Given the description of an element on the screen output the (x, y) to click on. 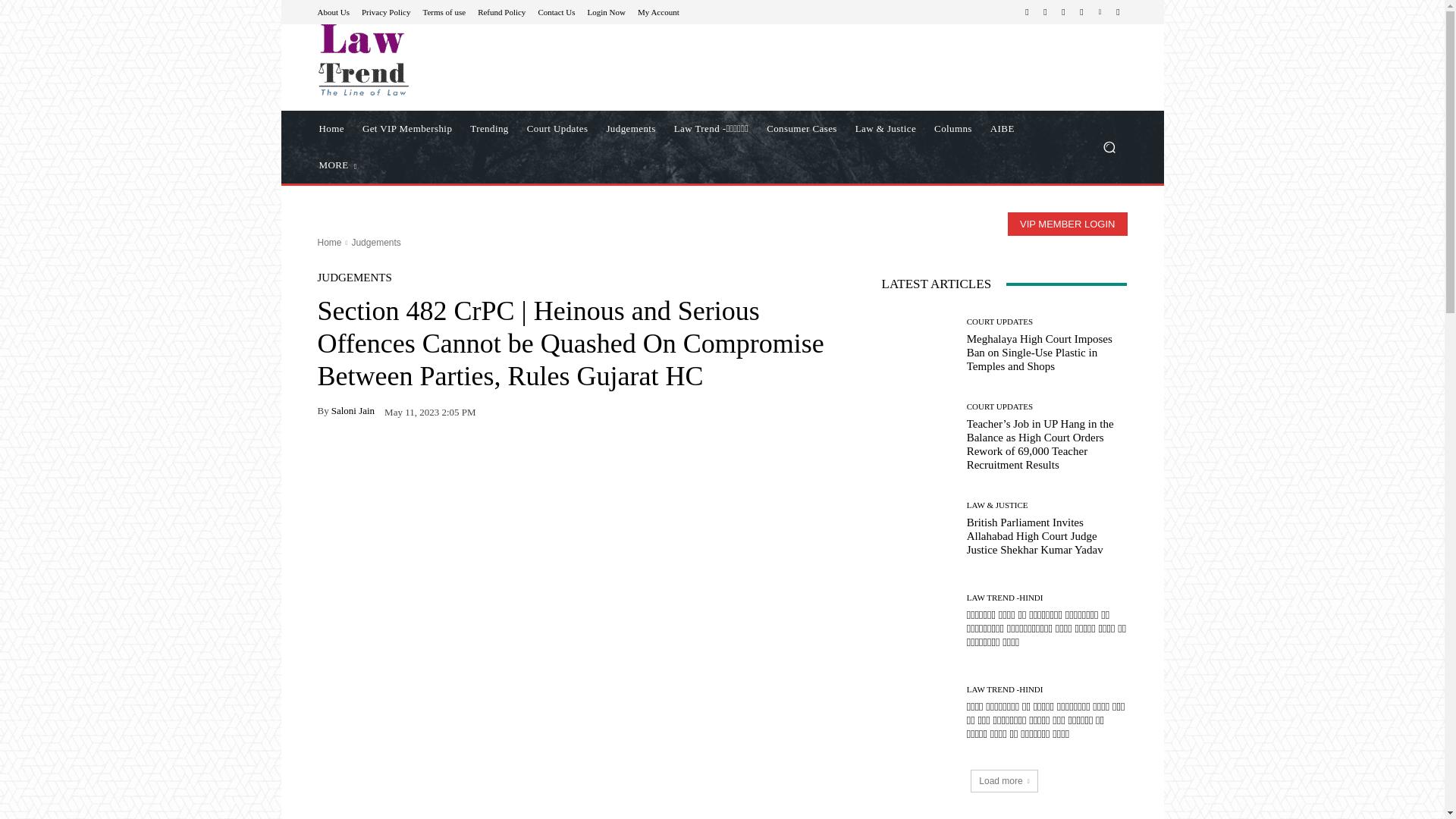
Vimeo (1099, 12)
Law Trend- Legal News Website (425, 59)
Facebook (1026, 12)
Login Now (607, 11)
Instagram (1044, 12)
About Us (333, 11)
My Account (658, 11)
Refund Policy (501, 11)
Privacy Policy (385, 11)
Twitter (1080, 12)
